Given the description of an element on the screen output the (x, y) to click on. 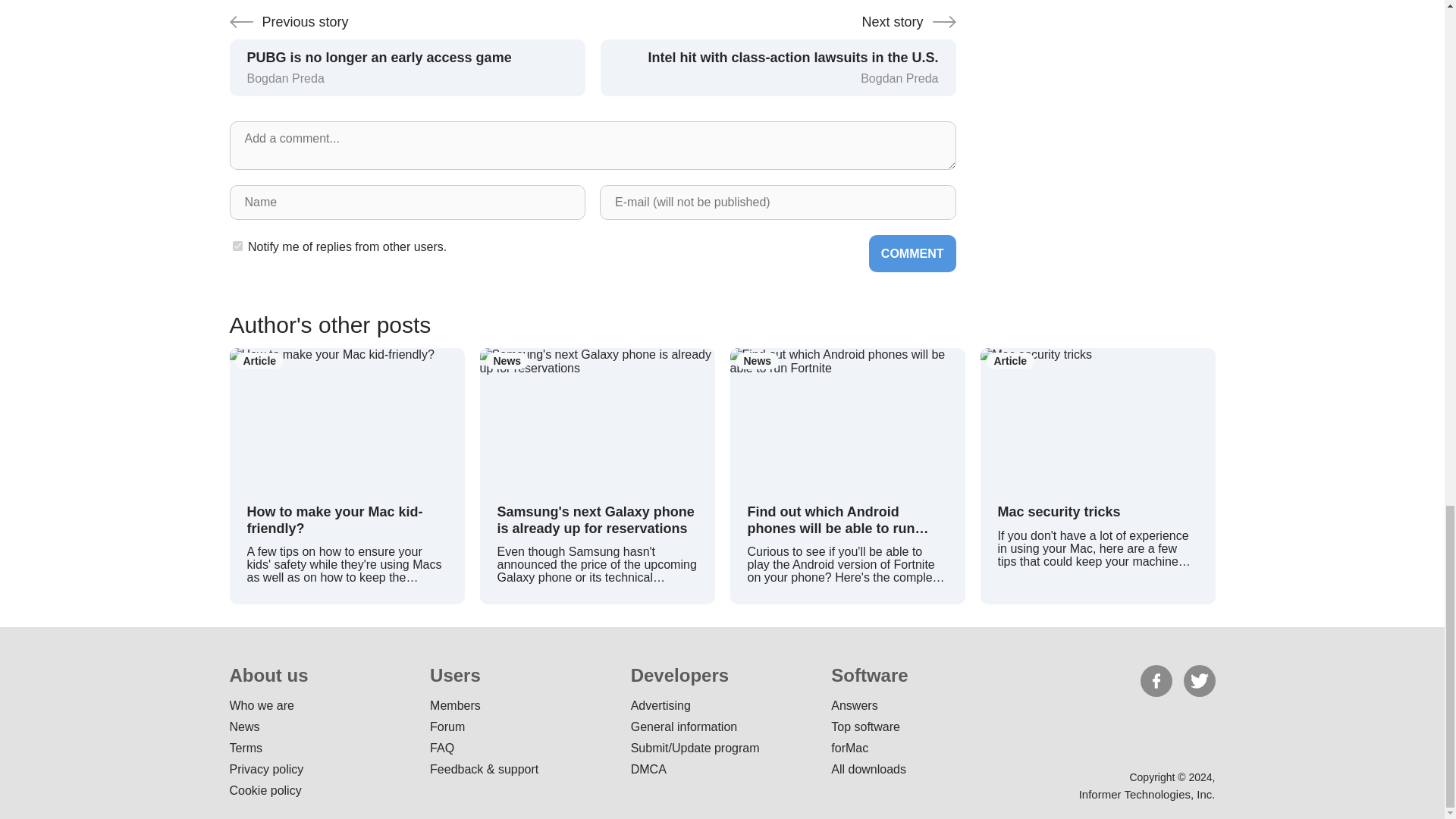
1 (236, 245)
Comment (912, 253)
Comment (912, 253)
